Given the description of an element on the screen output the (x, y) to click on. 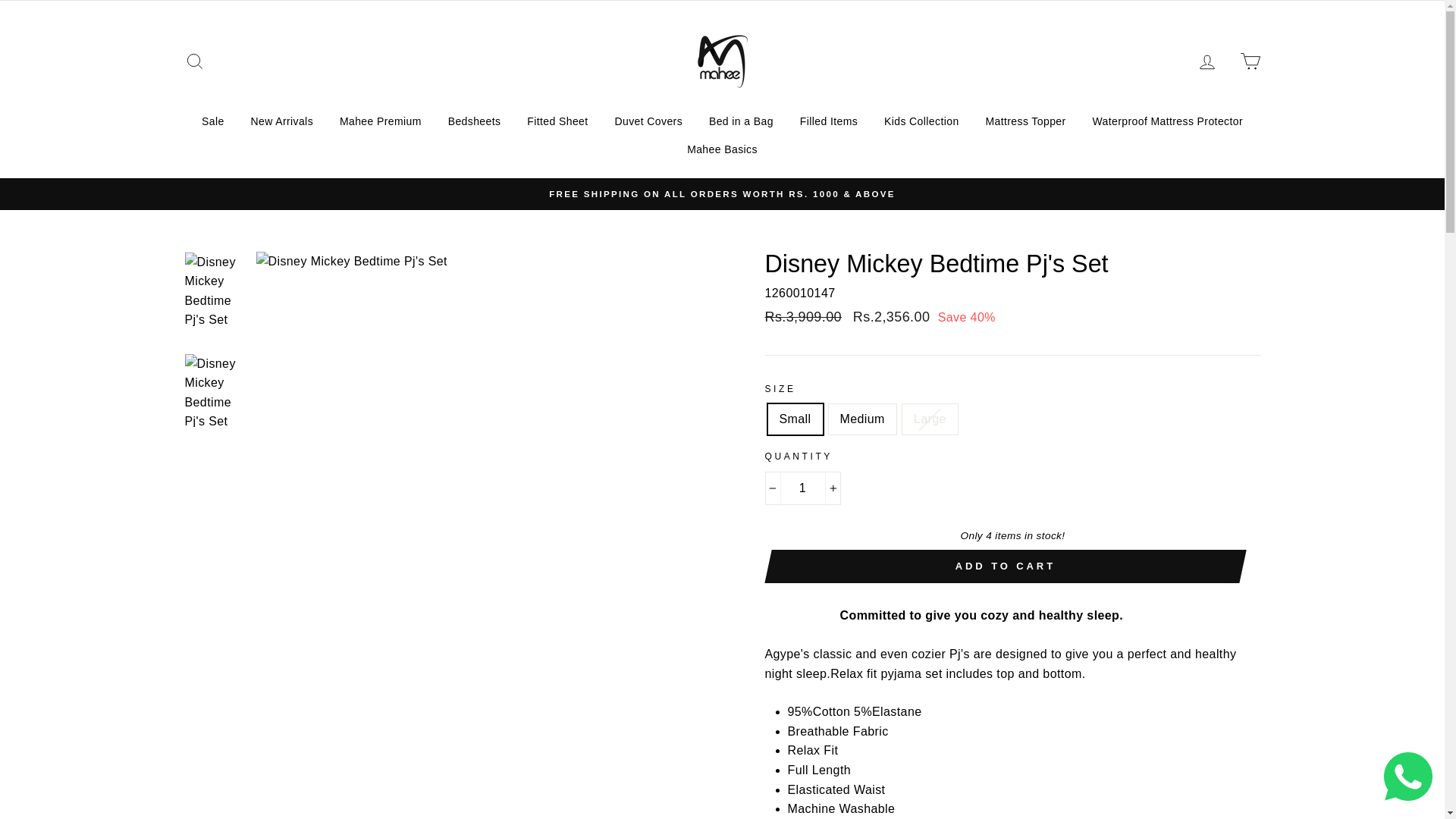
1 (802, 488)
